Given the description of an element on the screen output the (x, y) to click on. 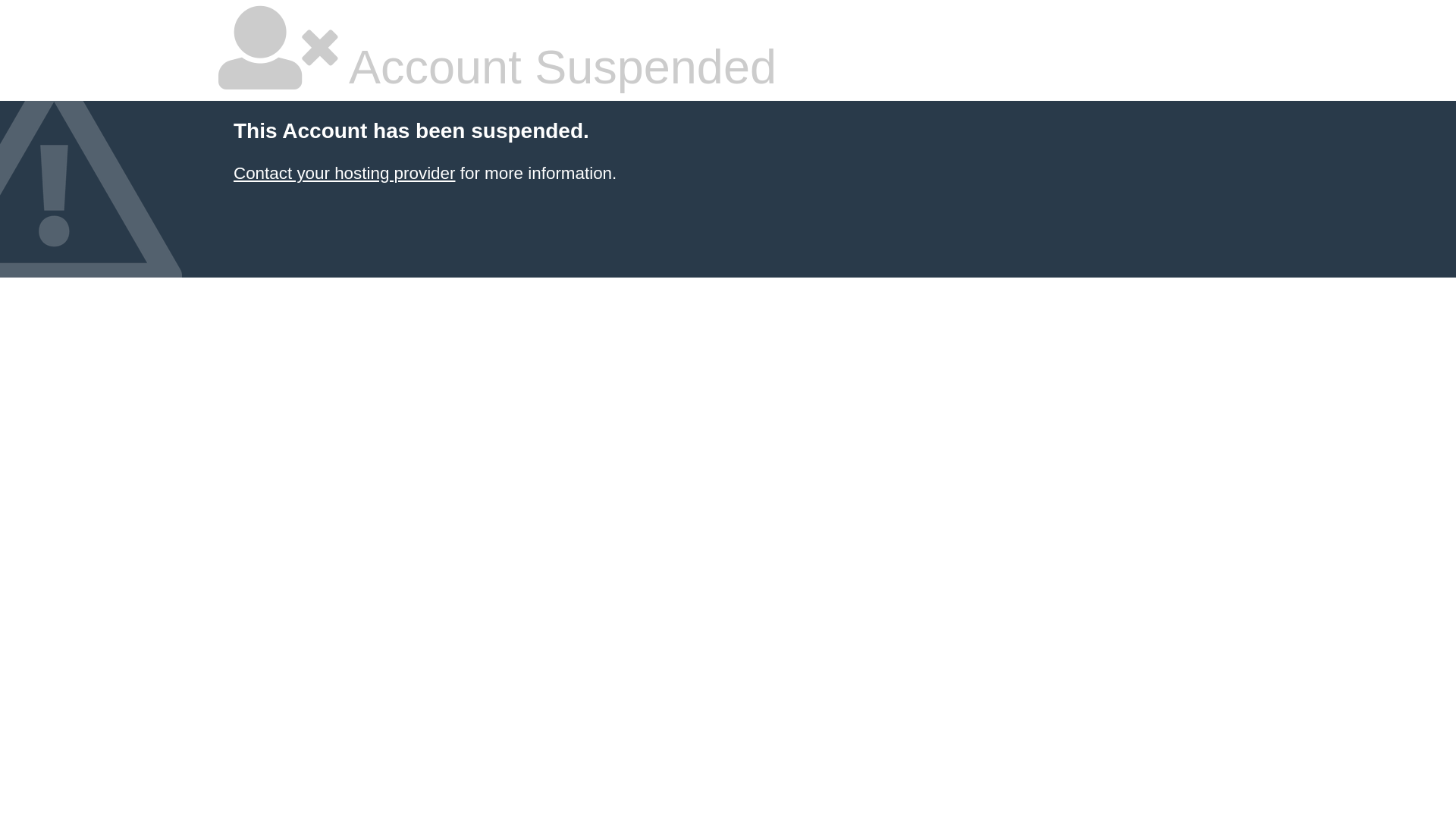
Contact your hosting provider Element type: text (344, 172)
